Given the description of an element on the screen output the (x, y) to click on. 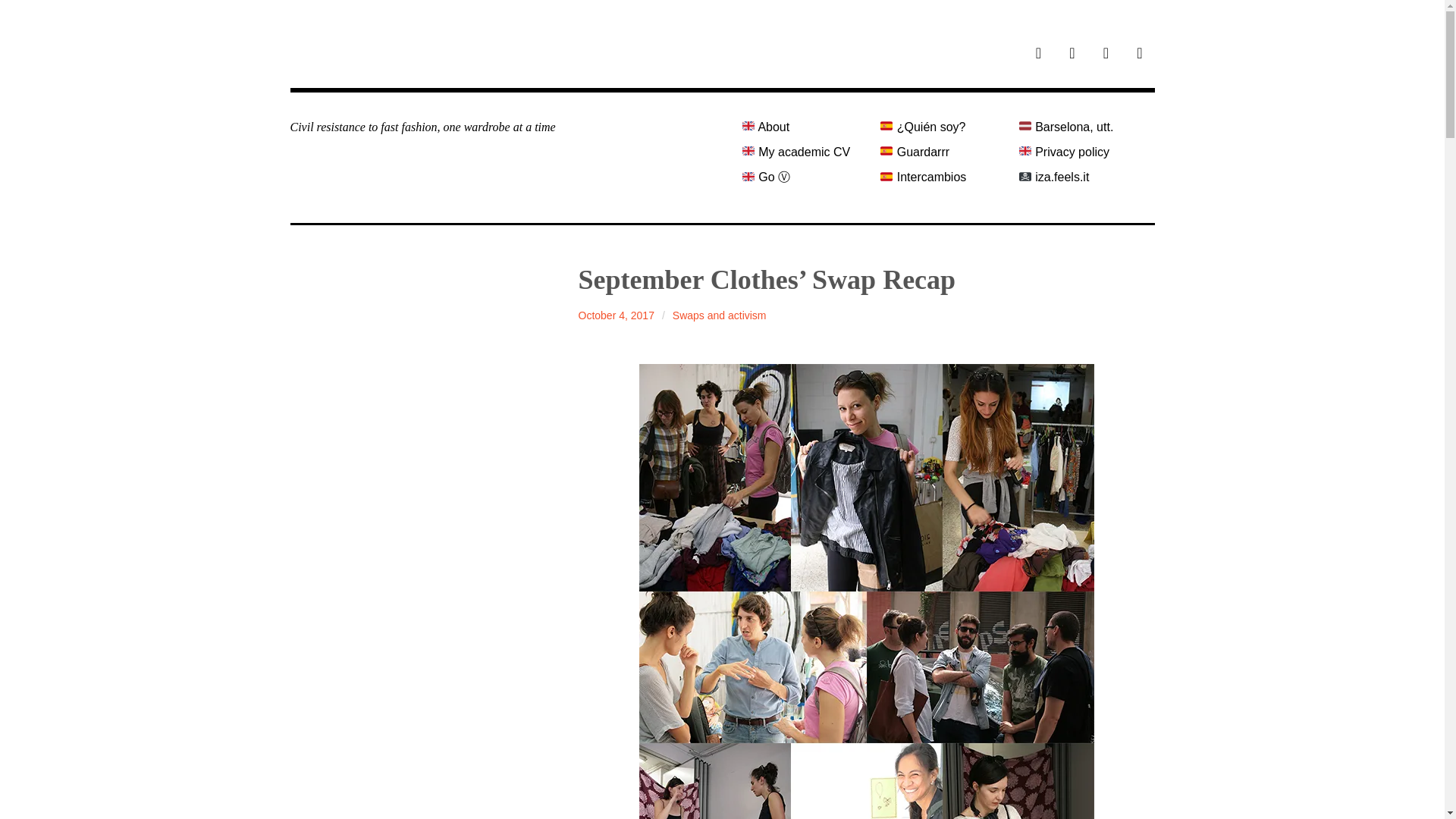
iza.feels.it (1080, 177)
instagram (1071, 54)
Privacy policy (1080, 151)
home (1038, 54)
October 4, 2017 (615, 314)
Intercambios (942, 177)
Guardarrr (942, 151)
facebook (1138, 54)
twitter (1105, 54)
Swaps and activism (719, 314)
My academic CV (804, 151)
About (804, 126)
Barselona, utt. (1080, 126)
